Given the description of an element on the screen output the (x, y) to click on. 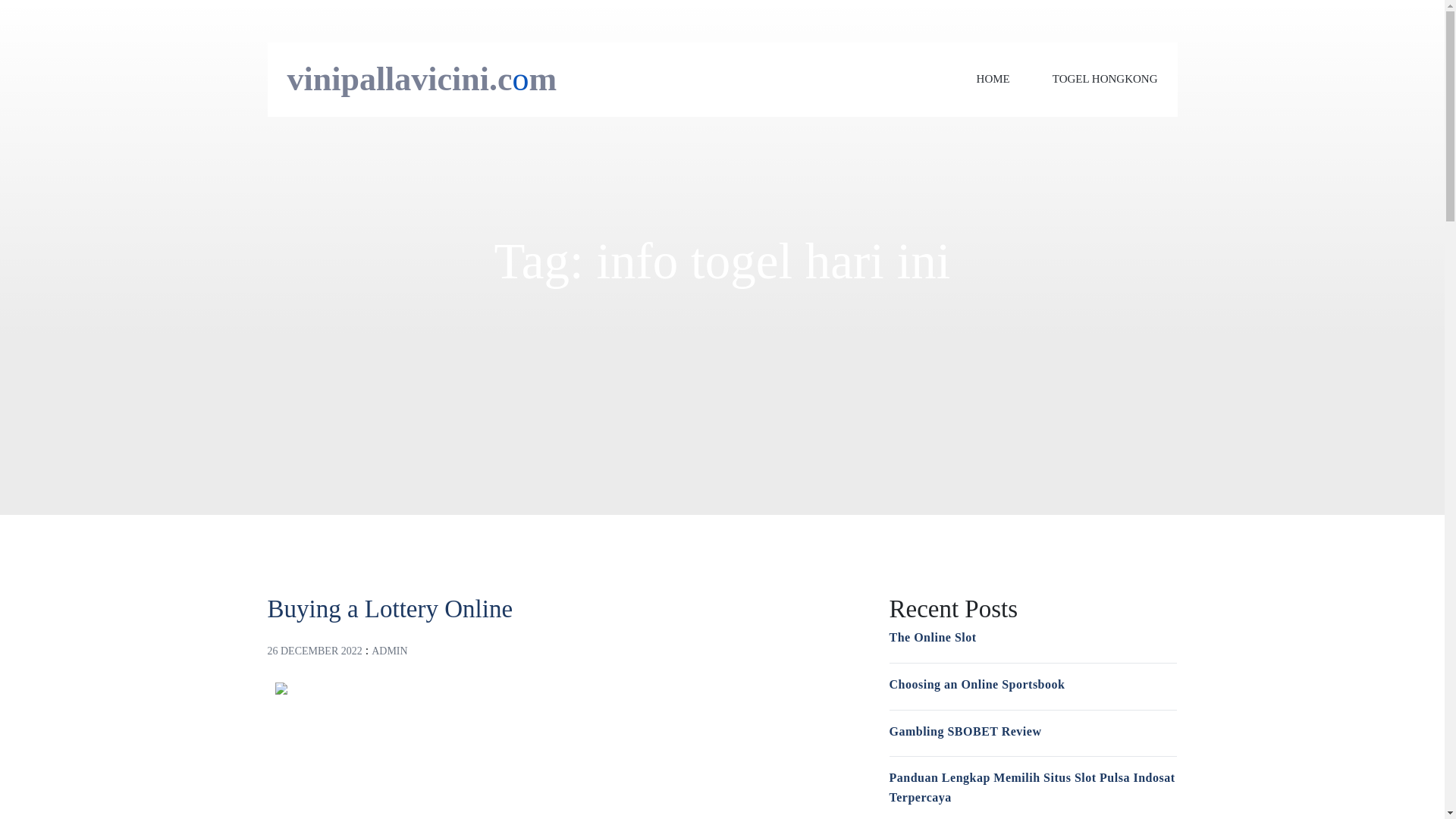
HOME (993, 78)
Panduan Lengkap Memilih Situs Slot Pulsa Indosat Terpercaya (1031, 787)
Gambling SBOBET Review (964, 730)
ADMIN (389, 650)
TOGEL HONGKONG (1104, 78)
Choosing an Online Sportsbook (976, 684)
vinipallavicini.com (421, 78)
Buying a Lottery Online (389, 608)
The Online Slot (931, 636)
26 DECEMBER 2022 (313, 650)
